Given the description of an element on the screen output the (x, y) to click on. 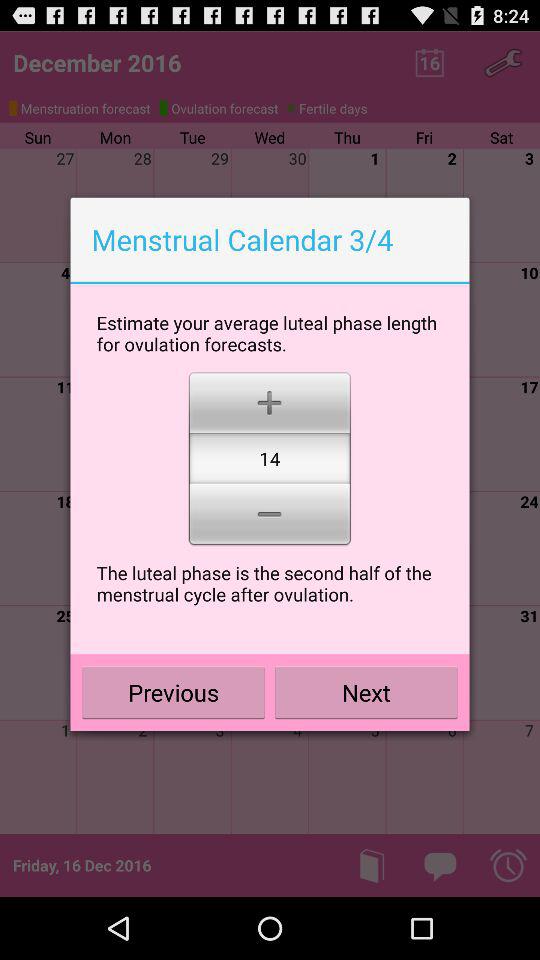
turn on item below the luteal phase icon (366, 692)
